Given the description of an element on the screen output the (x, y) to click on. 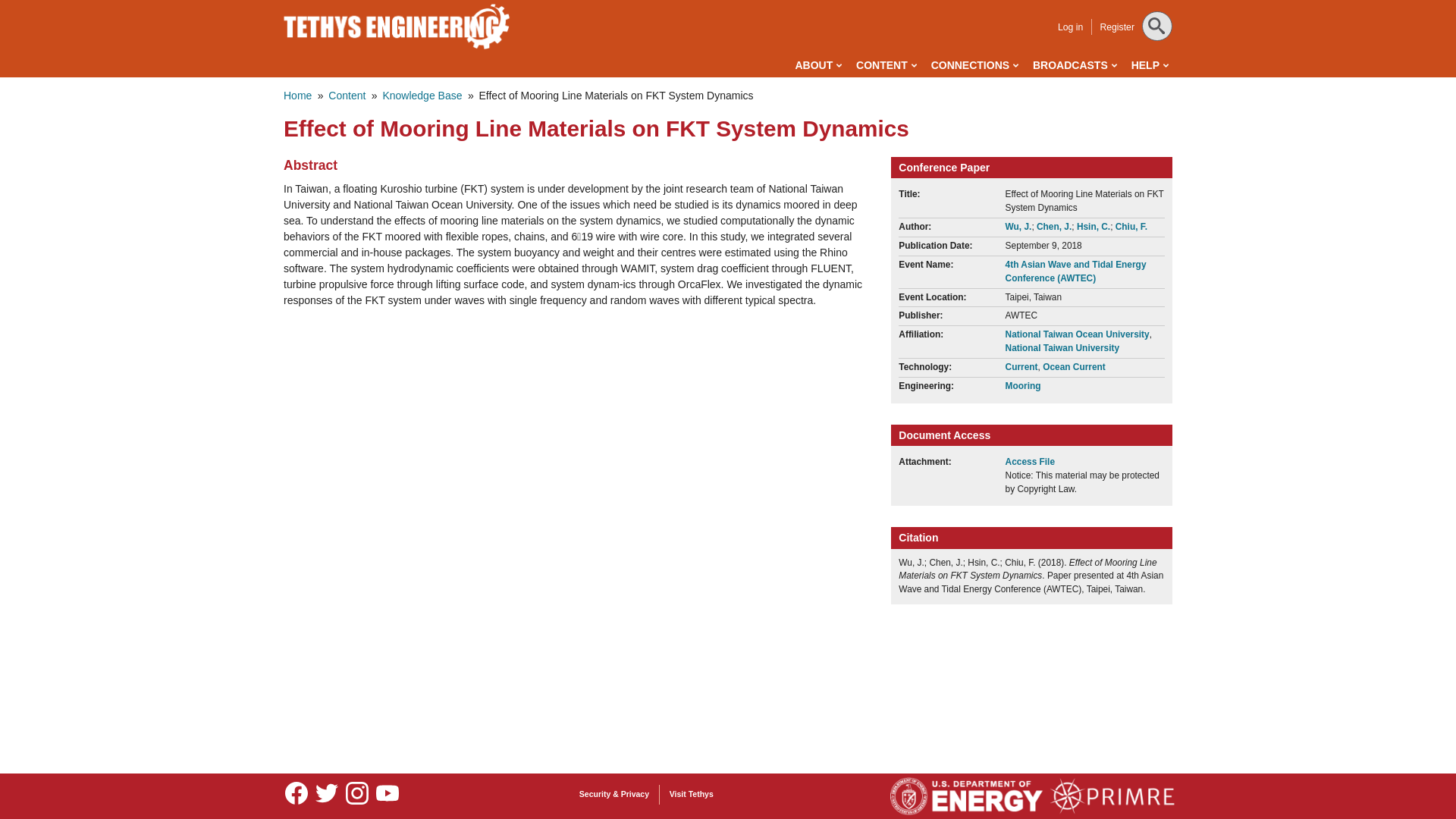
Knowledge Base (421, 95)
BROADCASTS (1074, 65)
Ocean Current (1073, 366)
Mooring (1023, 385)
Content (347, 95)
HELP (1150, 65)
Chiu, F. (1131, 226)
Current (1022, 366)
Home (397, 26)
